Given the description of an element on the screen output the (x, y) to click on. 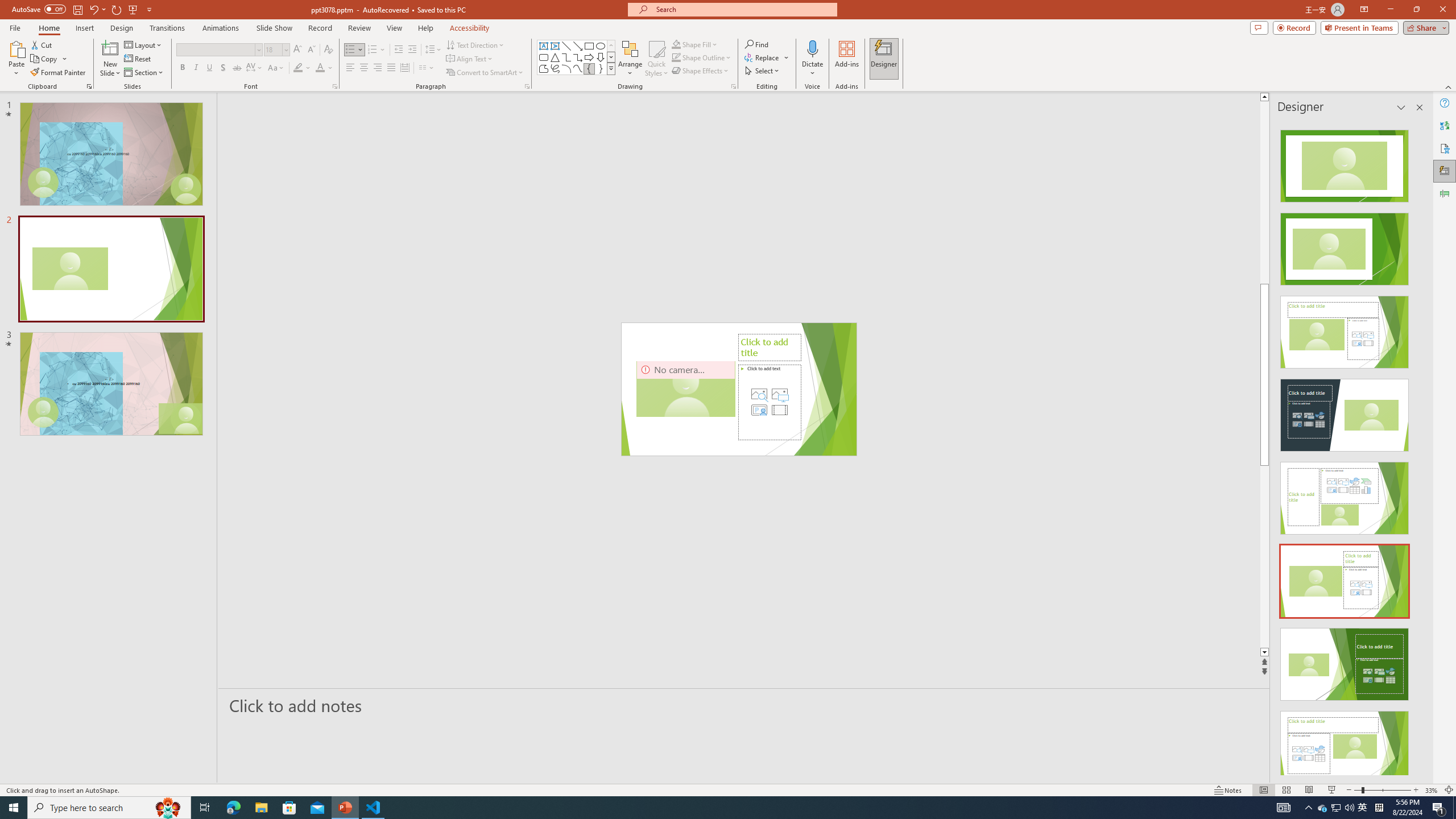
Camera 3, No camera detected. (685, 388)
